Given the description of an element on the screen output the (x, y) to click on. 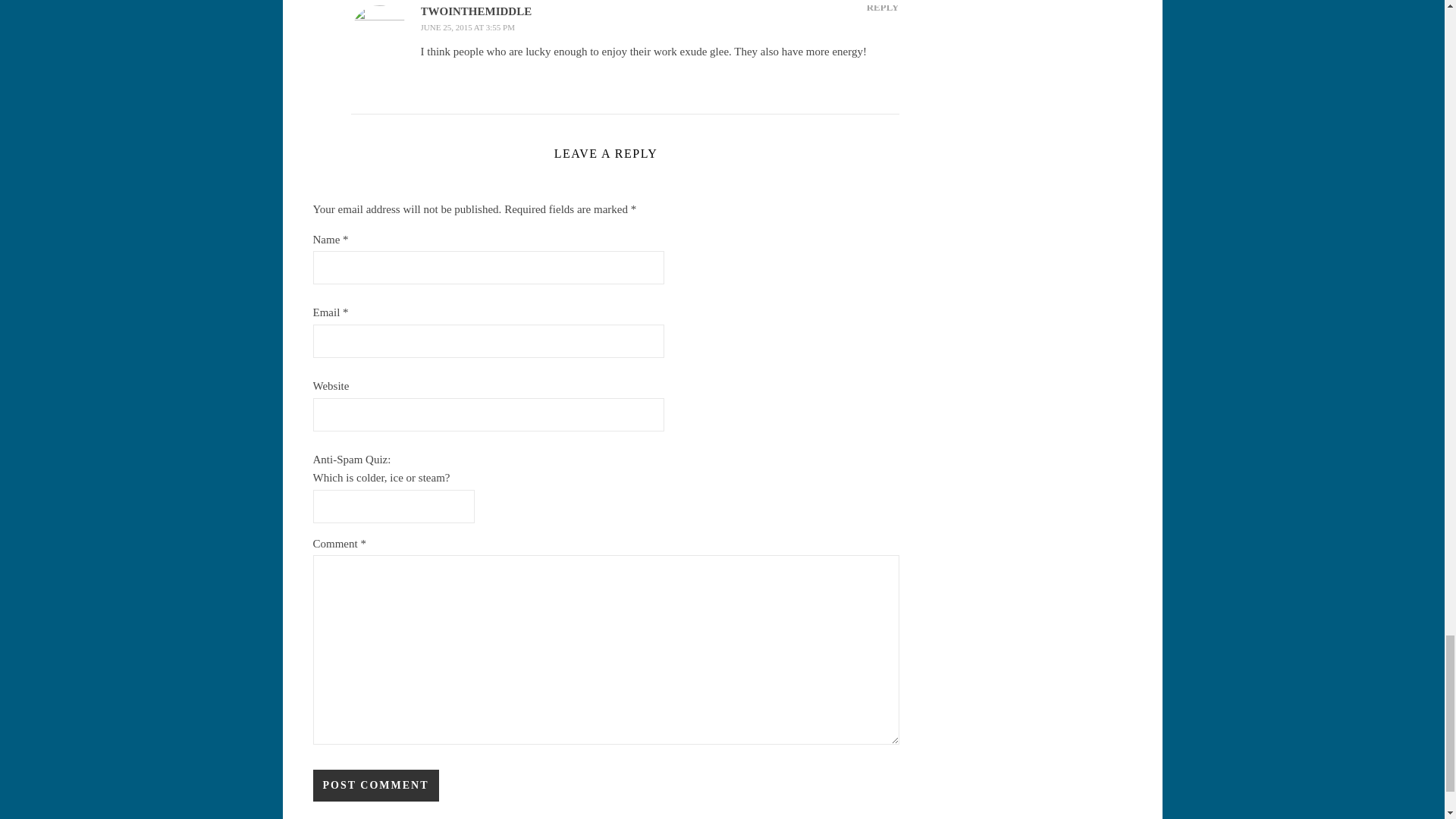
Post Comment (375, 785)
REPLY (882, 8)
JUNE 25, 2015 AT 3:55 PM (466, 26)
